Given the description of an element on the screen output the (x, y) to click on. 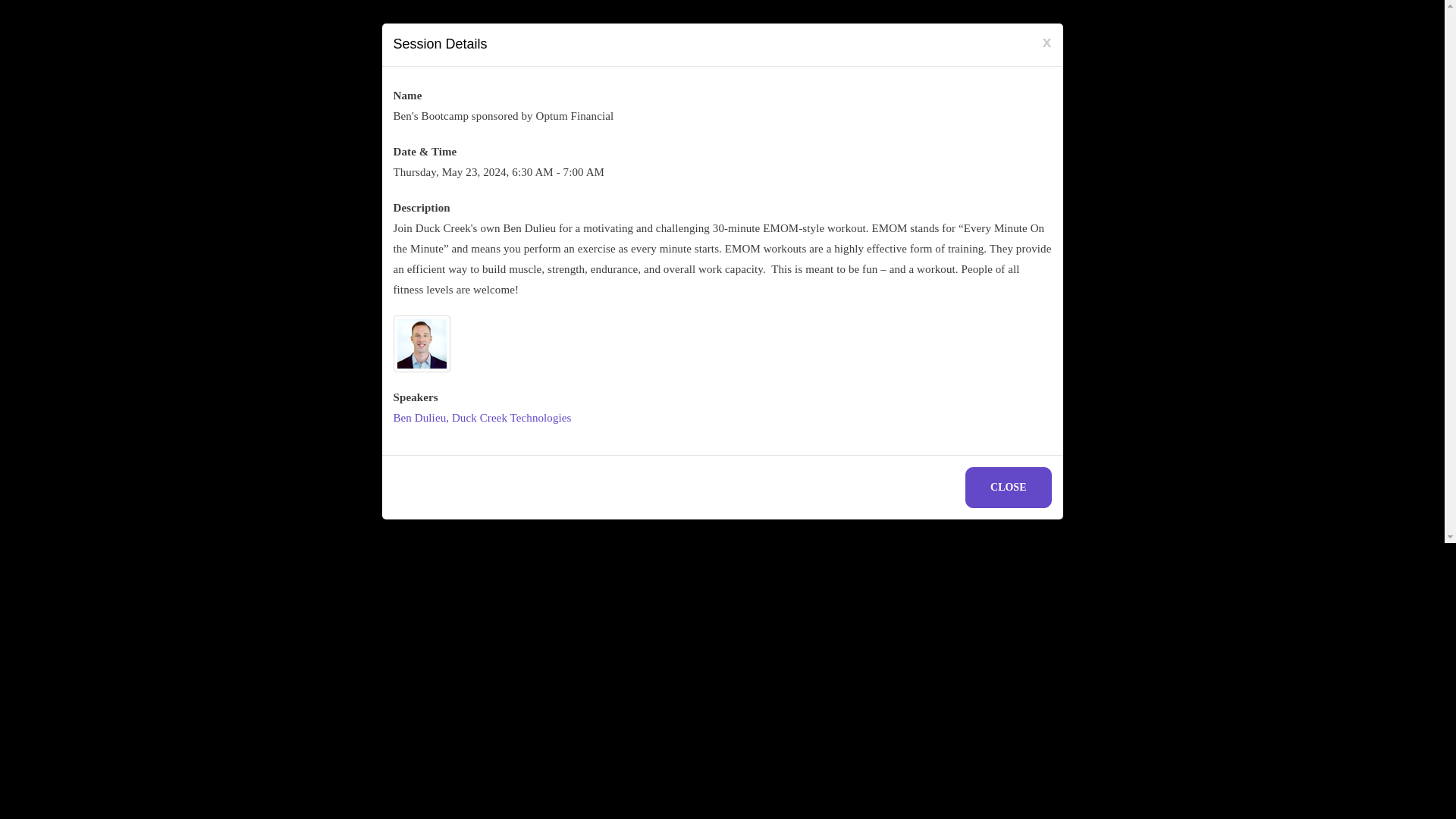
Ben Dulieu, Duck Creek Technologies (481, 417)
Speaker Details (481, 417)
CLOSE (1008, 486)
